Given the description of an element on the screen output the (x, y) to click on. 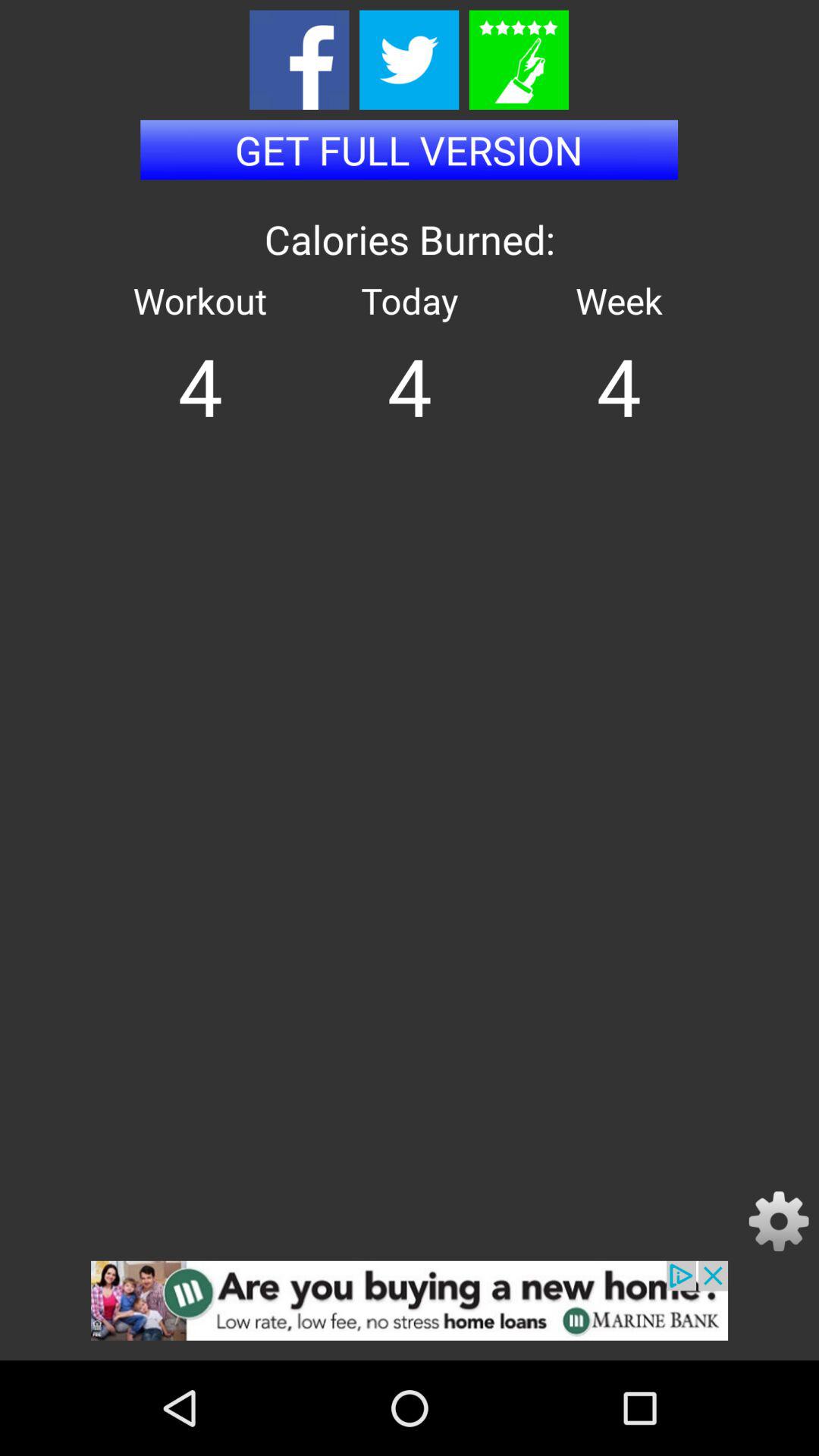
are you buyinh a new home (409, 1310)
